Given the description of an element on the screen output the (x, y) to click on. 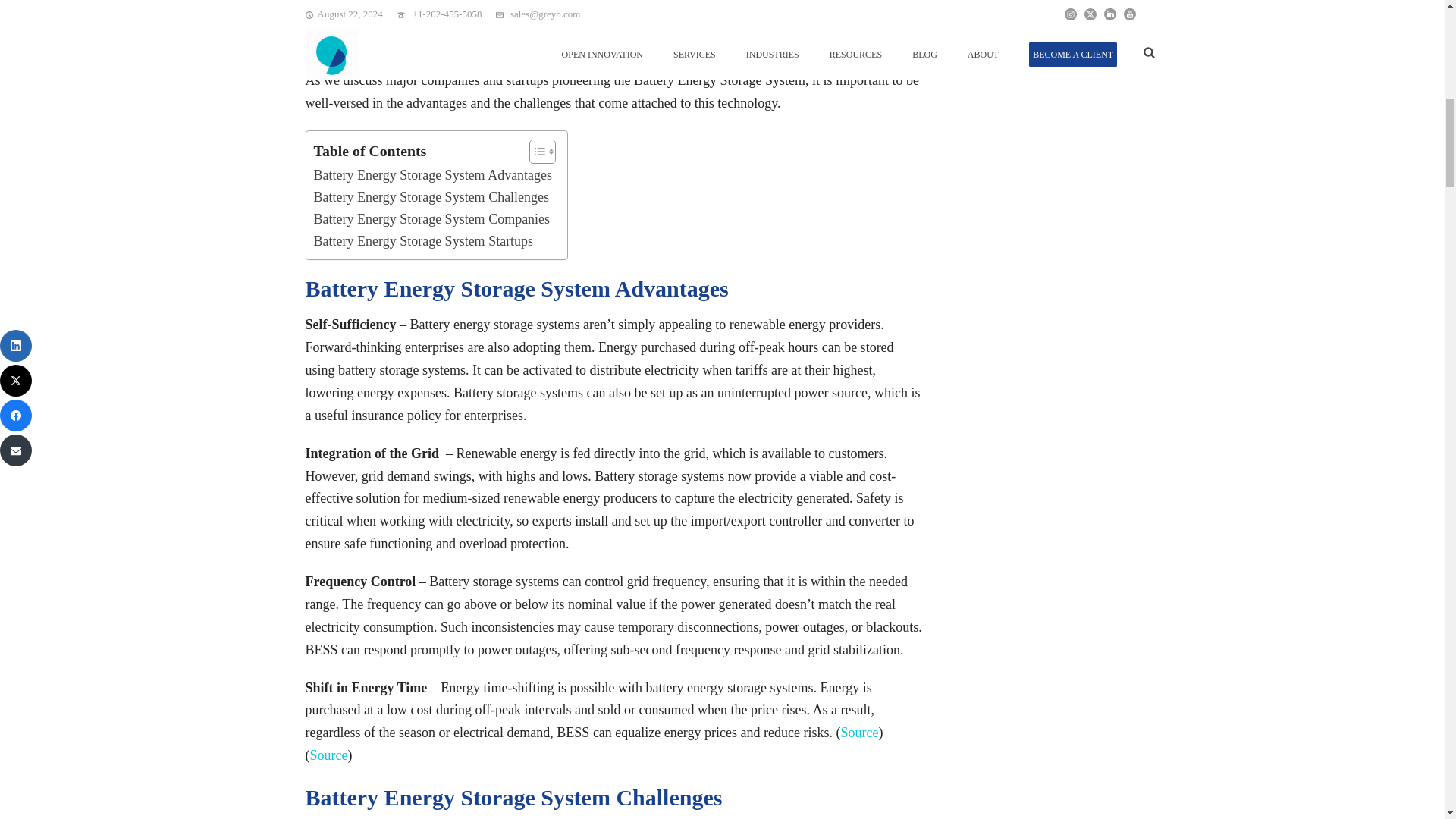
Battery Energy Storage System Advantages (433, 175)
Battery Energy Storage System Companies (432, 219)
Battery Energy Storage System Startups (424, 241)
Battery Energy Storage System Challenges (432, 197)
